Given the description of an element on the screen output the (x, y) to click on. 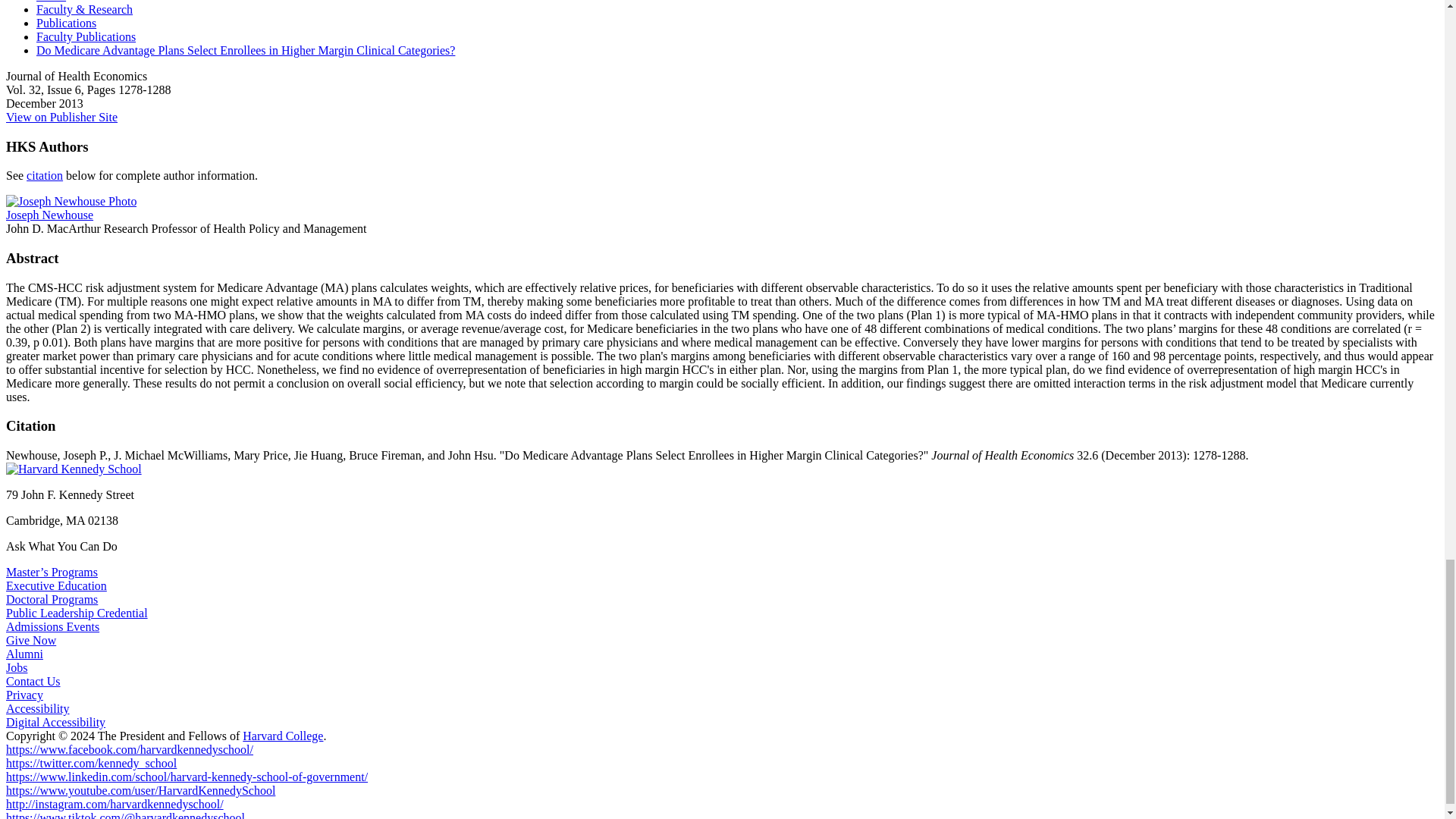
Harvard Kennedy School (73, 468)
